Given the description of an element on the screen output the (x, y) to click on. 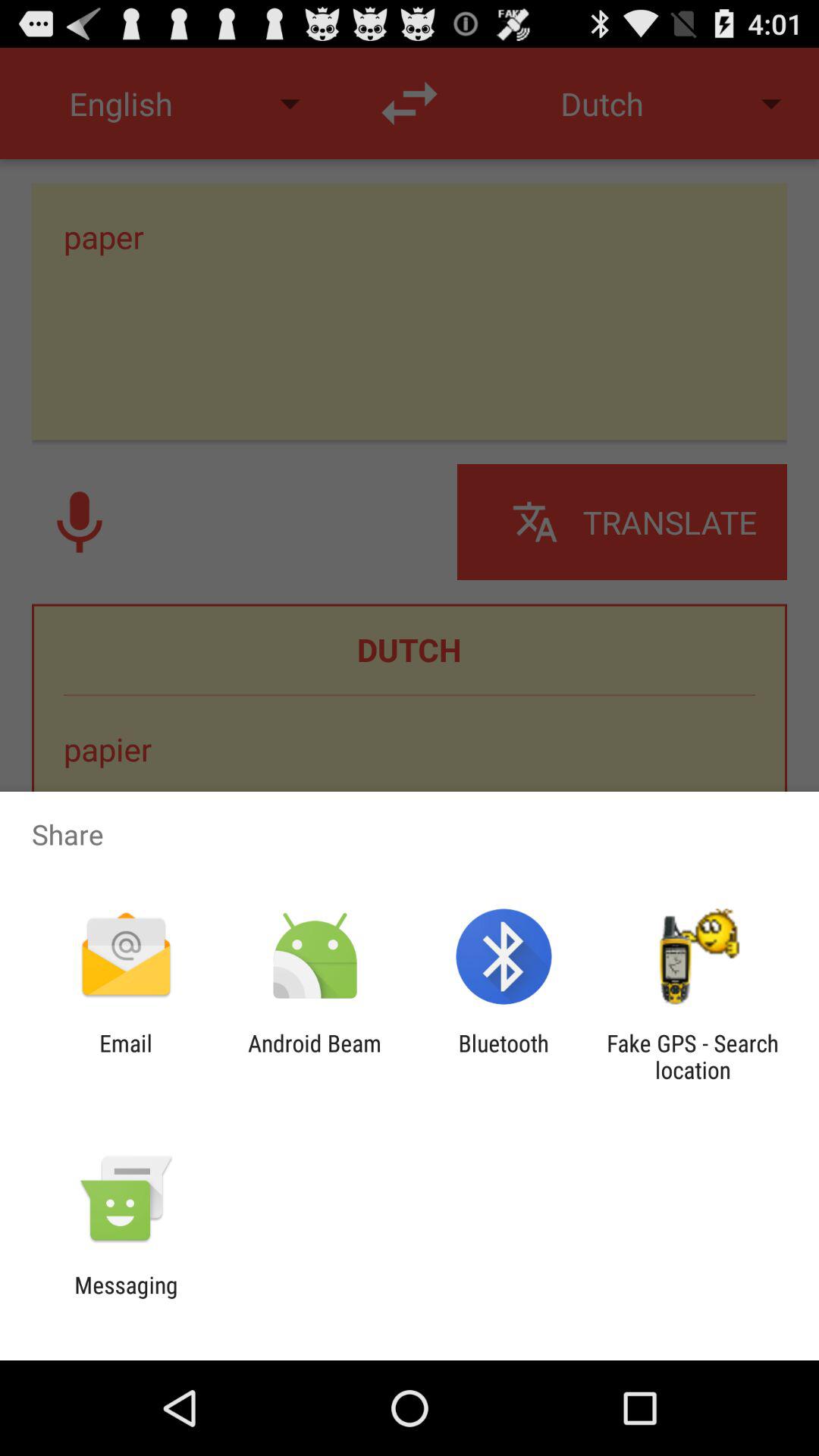
jump to android beam app (314, 1056)
